Given the description of an element on the screen output the (x, y) to click on. 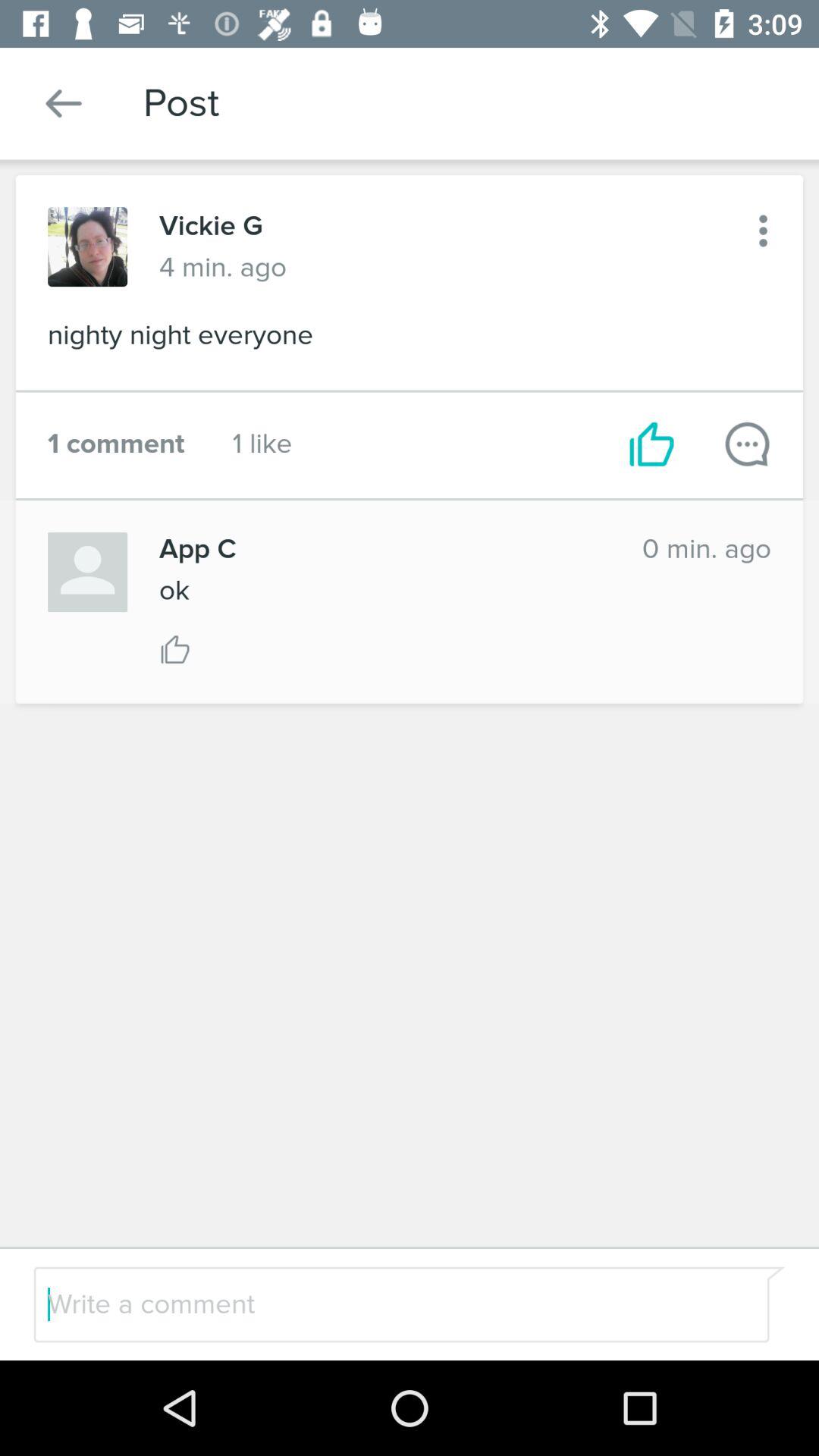
open the item next to the 1 like item (115, 444)
